Given the description of an element on the screen output the (x, y) to click on. 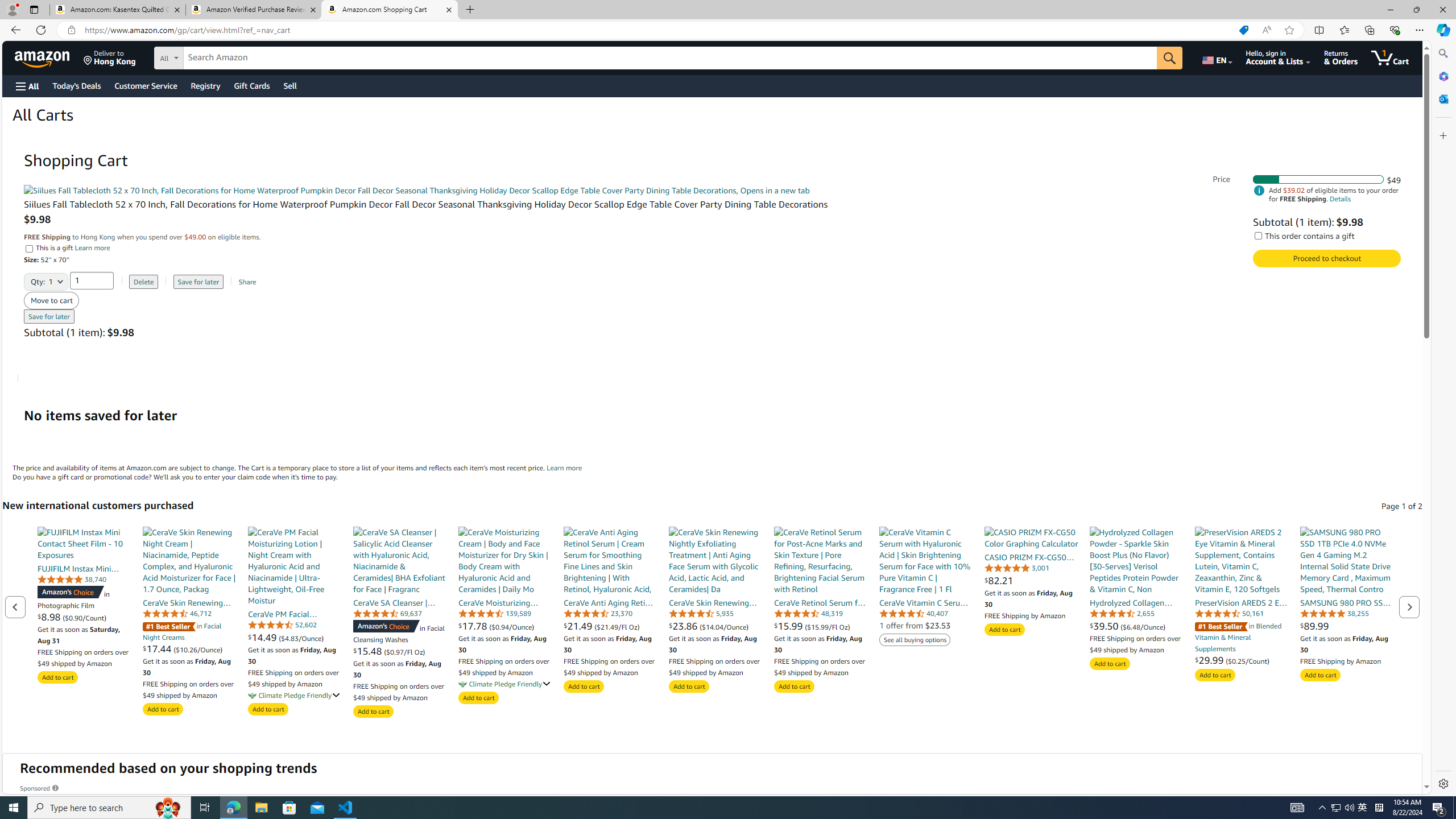
CASIO PRIZM FX-CG50 Color Graphing Calculator (1031, 537)
($0.97/Fl Oz) (404, 651)
Add to cart (1319, 675)
$15.99  (789, 625)
Amazon (43, 57)
